Given the description of an element on the screen output the (x, y) to click on. 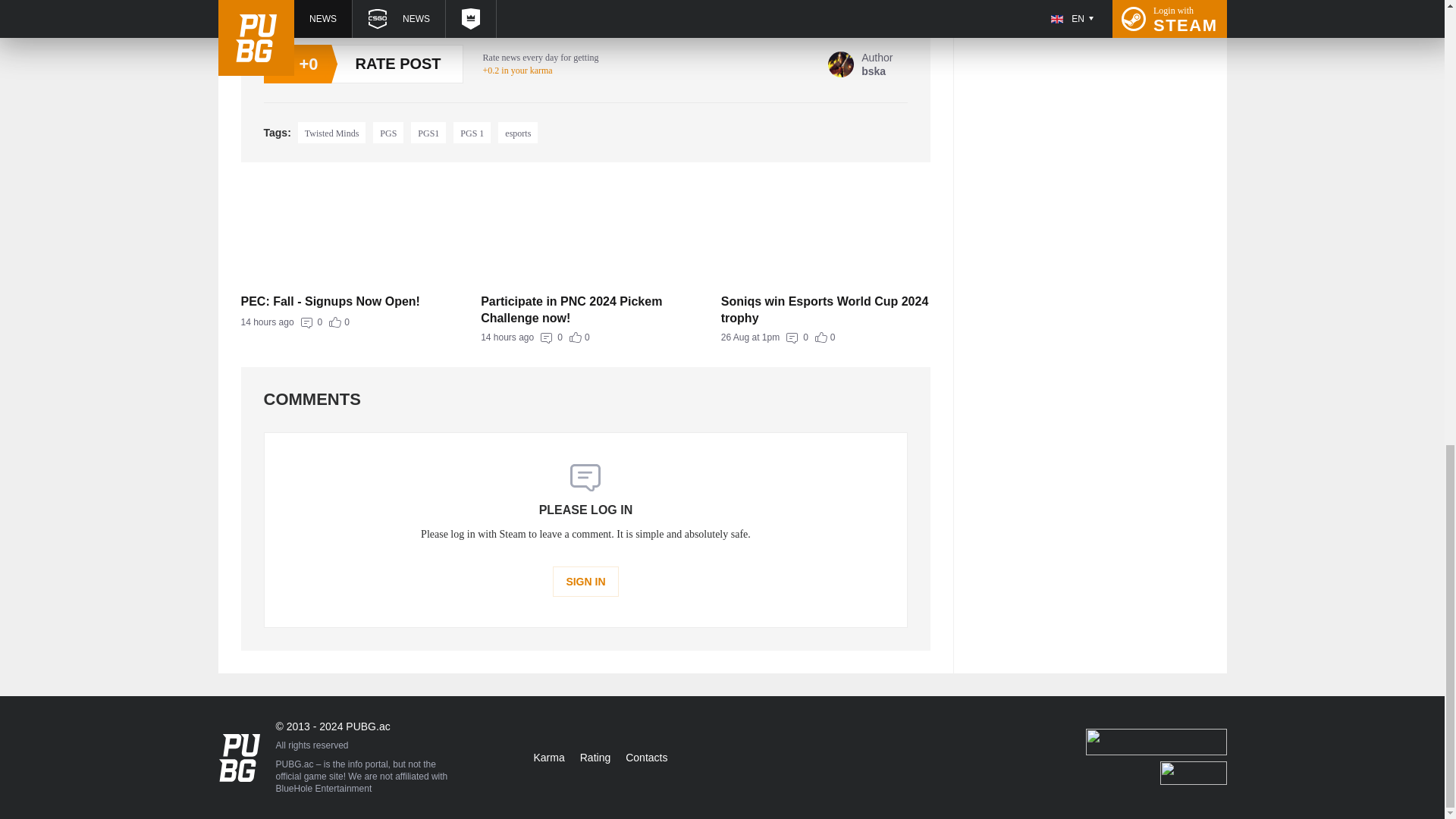
PEC: Fall - Signups Now Open! (346, 301)
esports (517, 132)
Participate in PNC 2024 Pickem Challenge now! (825, 337)
PGS 1 (585, 309)
Twisted Minds (471, 132)
Soniqs win Esports World Cup 2024 trophy (346, 322)
PGS (332, 132)
